Given the description of an element on the screen output the (x, y) to click on. 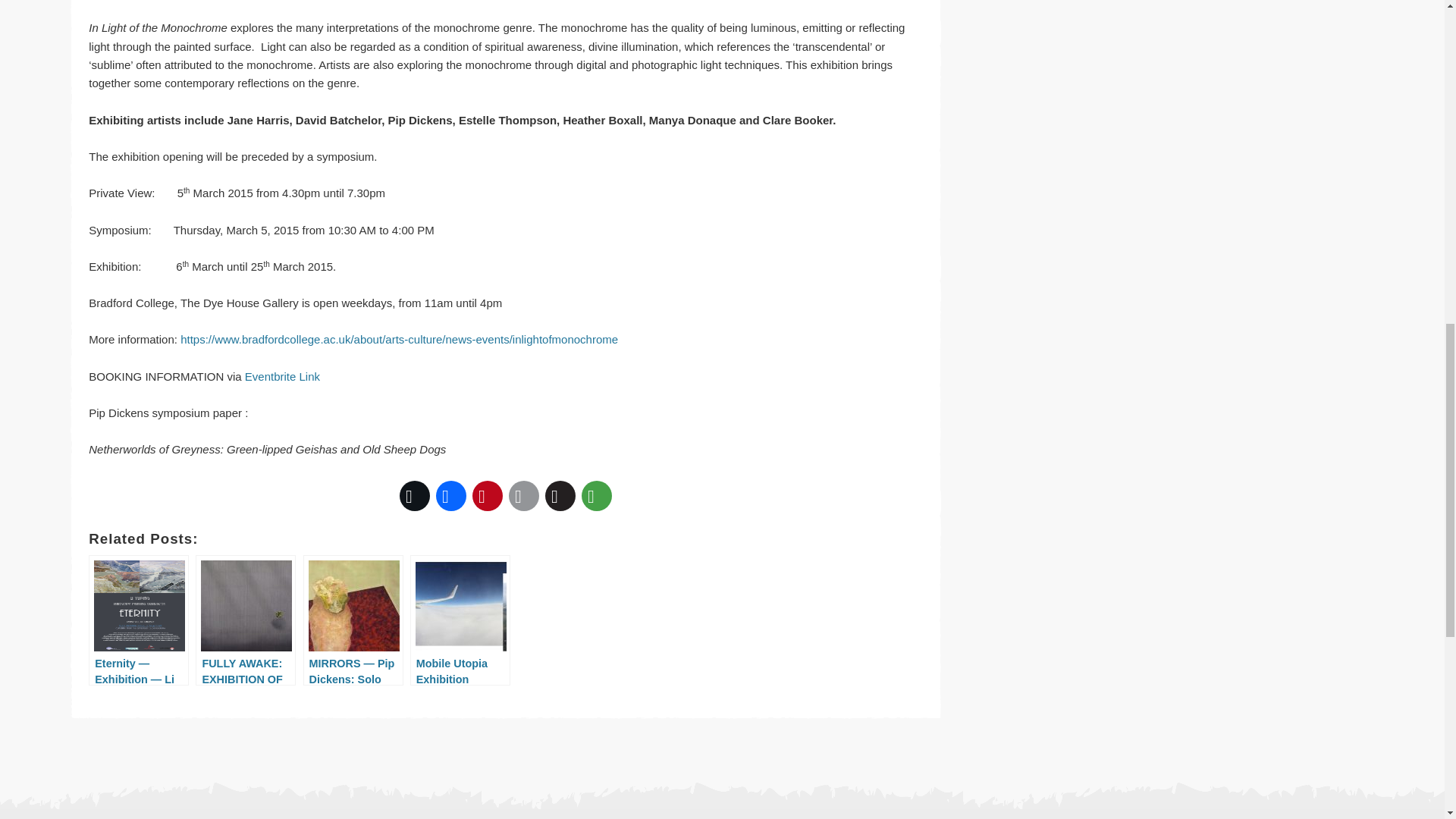
Eventbrite Link (282, 376)
More Options (596, 495)
Email This (523, 495)
Buffer (559, 495)
Booking Information Hyperlink (282, 376)
Facebook (450, 495)
In Light of Monochrome (398, 338)
Pinterest (486, 495)
